Given the description of an element on the screen output the (x, y) to click on. 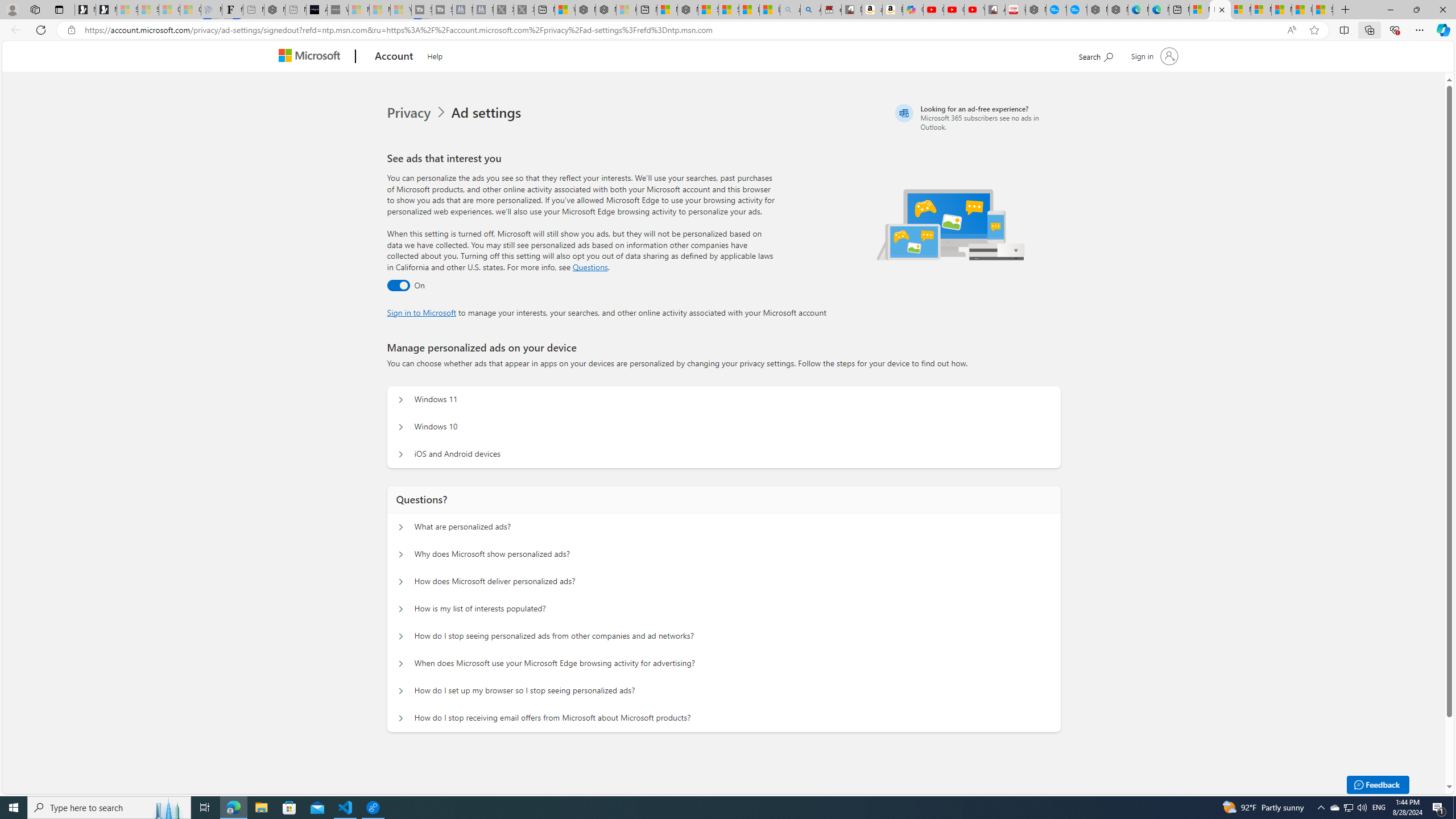
Help (435, 54)
Amazon Echo Dot PNG - Search Images (809, 9)
Sign in to your account (1153, 55)
Illustration of multiple devices (951, 224)
